Given the description of an element on the screen output the (x, y) to click on. 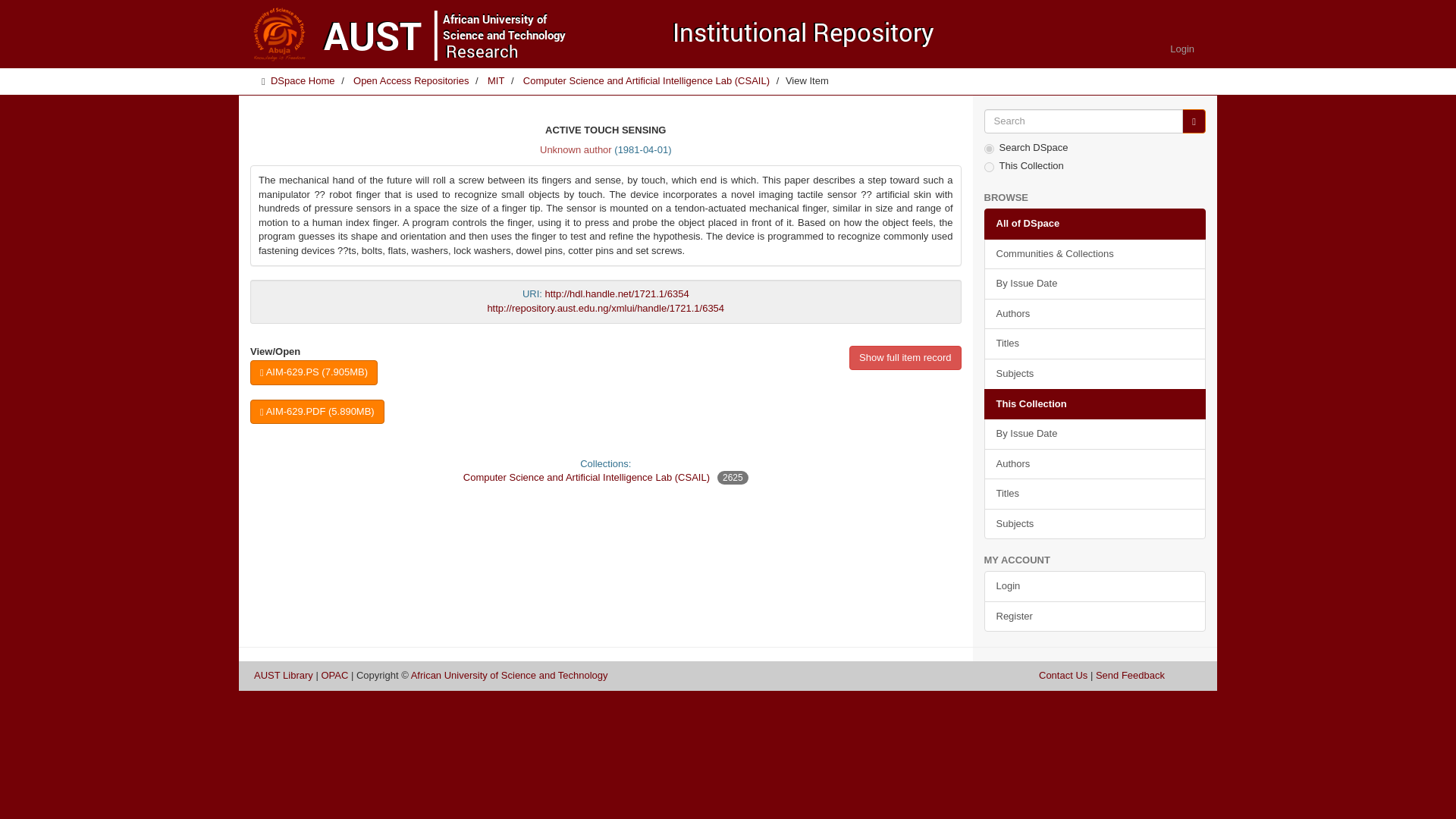
DSpace Home (302, 80)
AUST Library (273, 674)
Register (1095, 616)
Login (1181, 48)
Go (1193, 121)
OPAC (333, 674)
Authors (1095, 463)
MIT (495, 80)
Contact Us (1036, 674)
By Issue Date (1095, 283)
All of DSpace (1095, 223)
Titles (1095, 343)
Authors (1095, 314)
Show full item record (904, 358)
Open Access Repositories (410, 80)
